Given the description of an element on the screen output the (x, y) to click on. 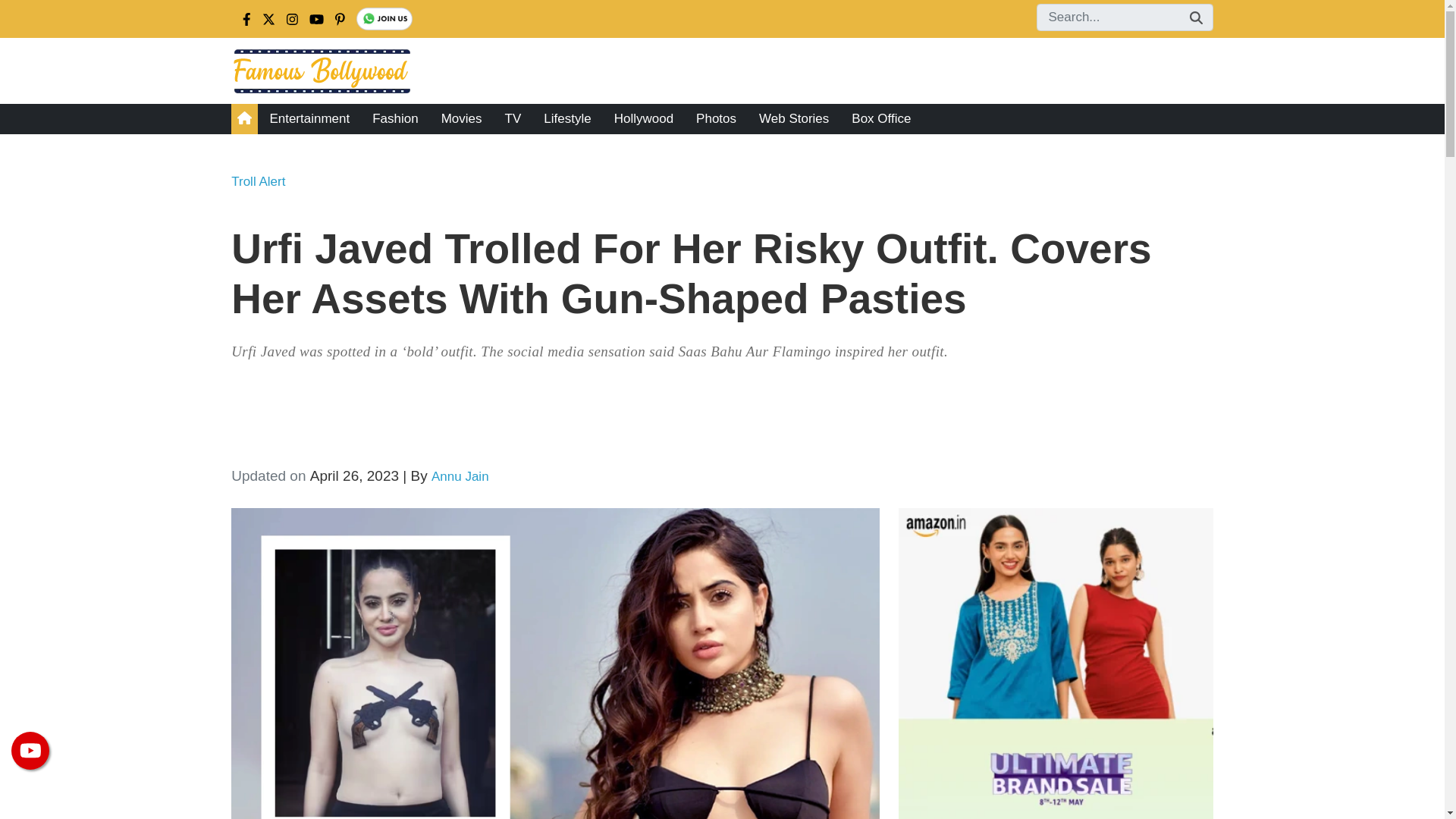
TV (512, 118)
Troll Alert (258, 181)
Hollywood (643, 118)
Box Office (880, 118)
Annu Jain (459, 476)
Photos (716, 118)
Entertainment (309, 118)
Fashion (395, 118)
Search for: (1123, 17)
Movies (461, 118)
Lifestyle (567, 118)
Web Stories (794, 118)
